Given the description of an element on the screen output the (x, y) to click on. 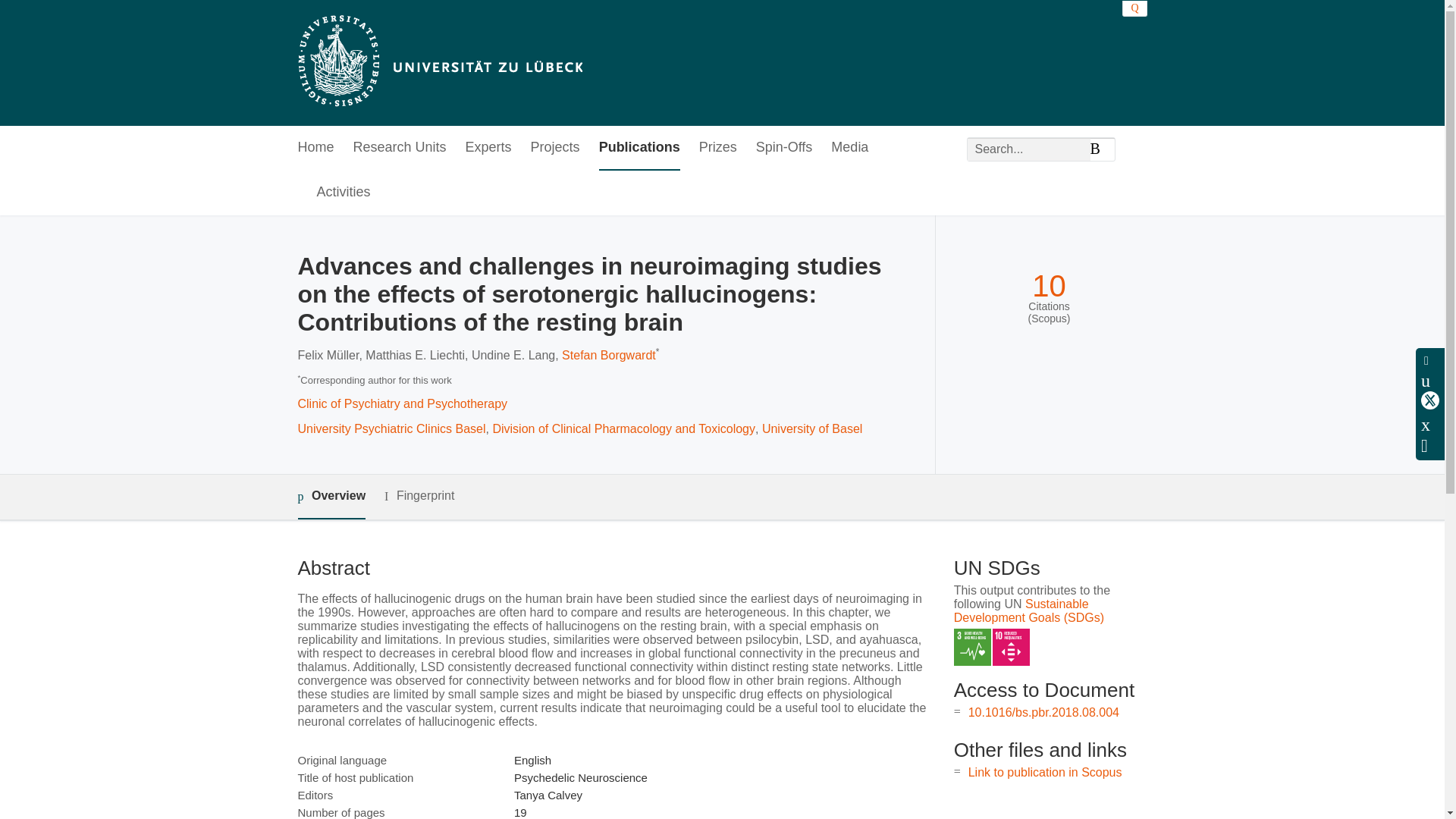
SDG 3 - Good Health and Well-being (972, 646)
Activities (344, 192)
Projects (555, 148)
Division of Clinical Pharmacology and Toxicology (623, 428)
Spin-Offs (783, 148)
University of Luebeck Home (438, 62)
Research Units (399, 148)
Link to publication in Scopus (1045, 771)
University of Basel (812, 428)
University Psychiatric Clinics Basel (390, 428)
